Given the description of an element on the screen output the (x, y) to click on. 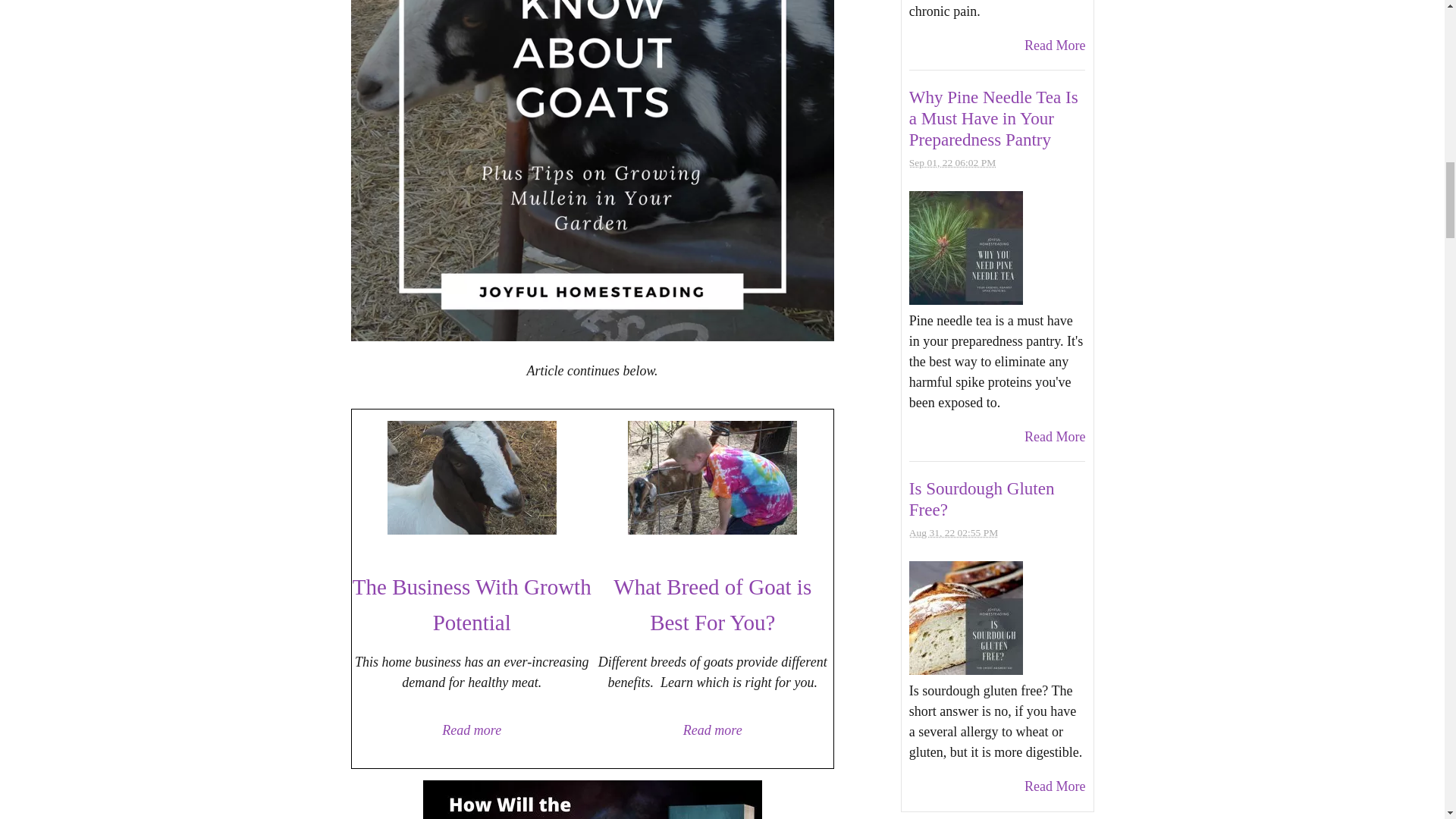
2022-09-01T18:02:46-0400 (951, 162)
Read more (471, 729)
Go to Different Breeds of Goat - What Breed is Best for You? (711, 529)
Read more (712, 729)
2022-08-31T14:55:09-0400 (952, 532)
What Breed of Goat is Best For You? (711, 603)
Go to Boer Goat Farming (471, 529)
The Business With Growth Potential (471, 603)
